Given the description of an element on the screen output the (x, y) to click on. 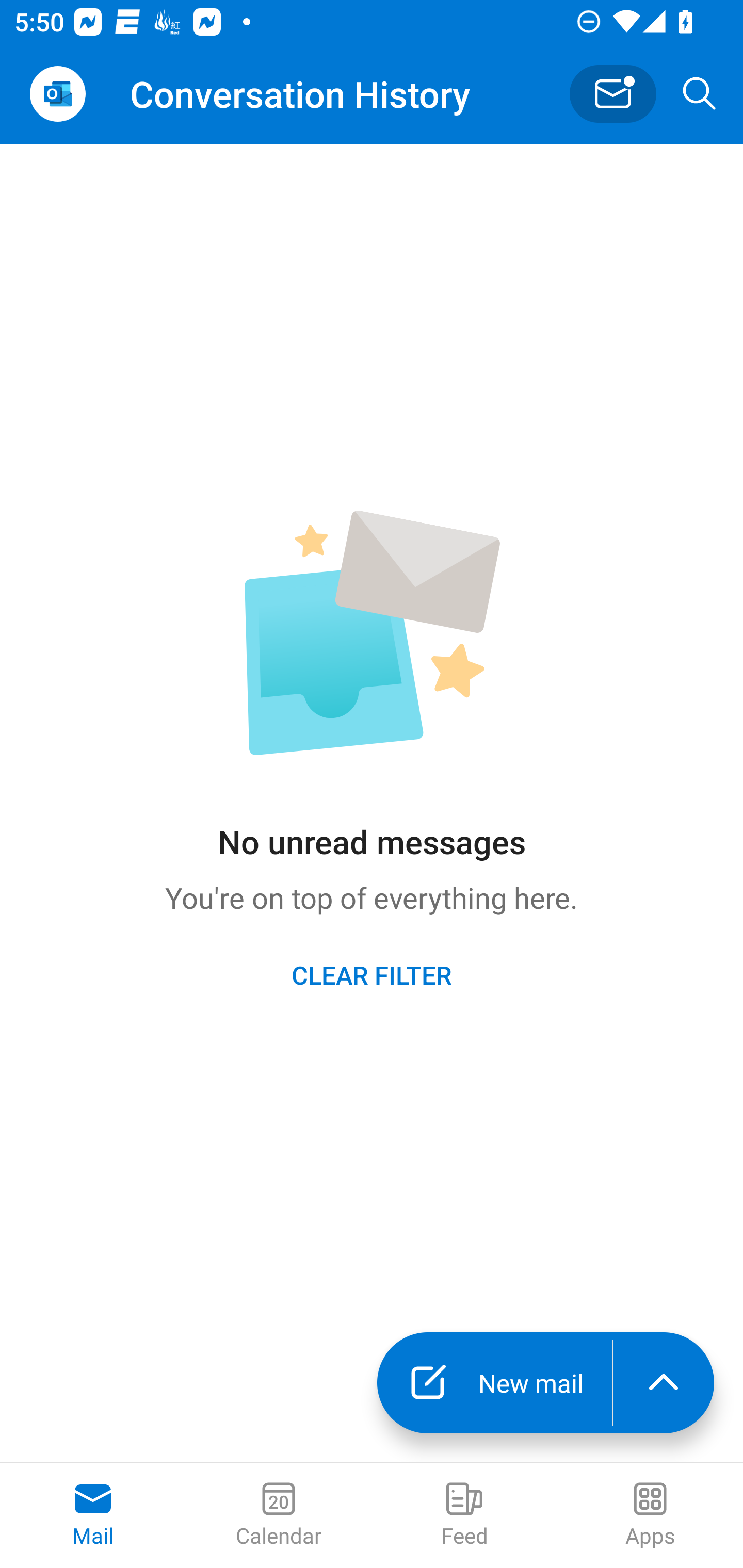
Search, ,  (699, 93)
Open Navigation Drawer (57, 94)
Current Filter : Unread (612, 93)
CLEAR FILTER (371, 974)
New mail (494, 1382)
launch the extended action menu (663, 1382)
Calendar (278, 1515)
Feed (464, 1515)
Apps (650, 1515)
